Given the description of an element on the screen output the (x, y) to click on. 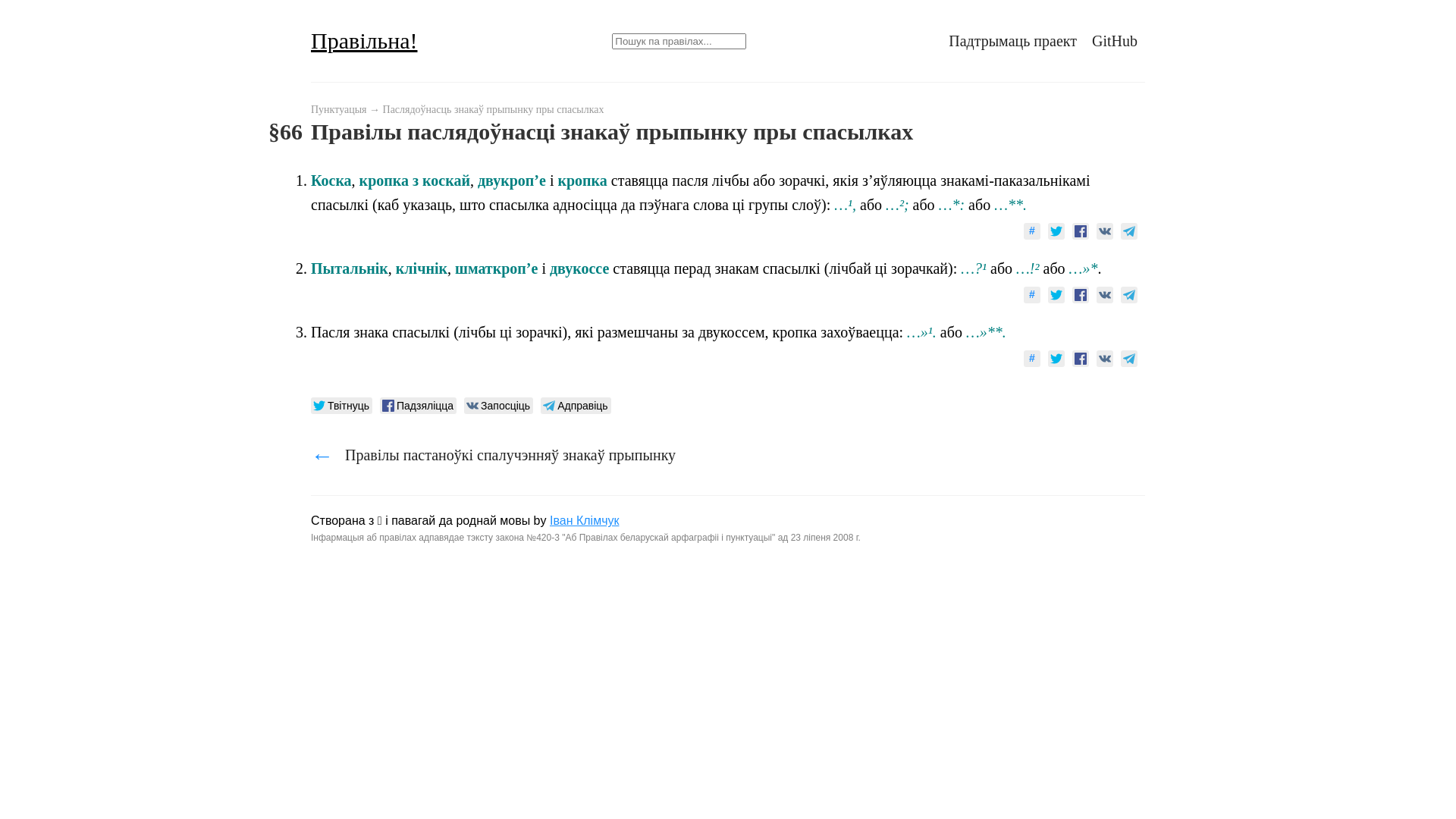
# Element type: text (1031, 230)
GitHub Element type: text (1114, 40)
# Element type: text (1031, 294)
# Element type: text (1031, 358)
